Given the description of an element on the screen output the (x, y) to click on. 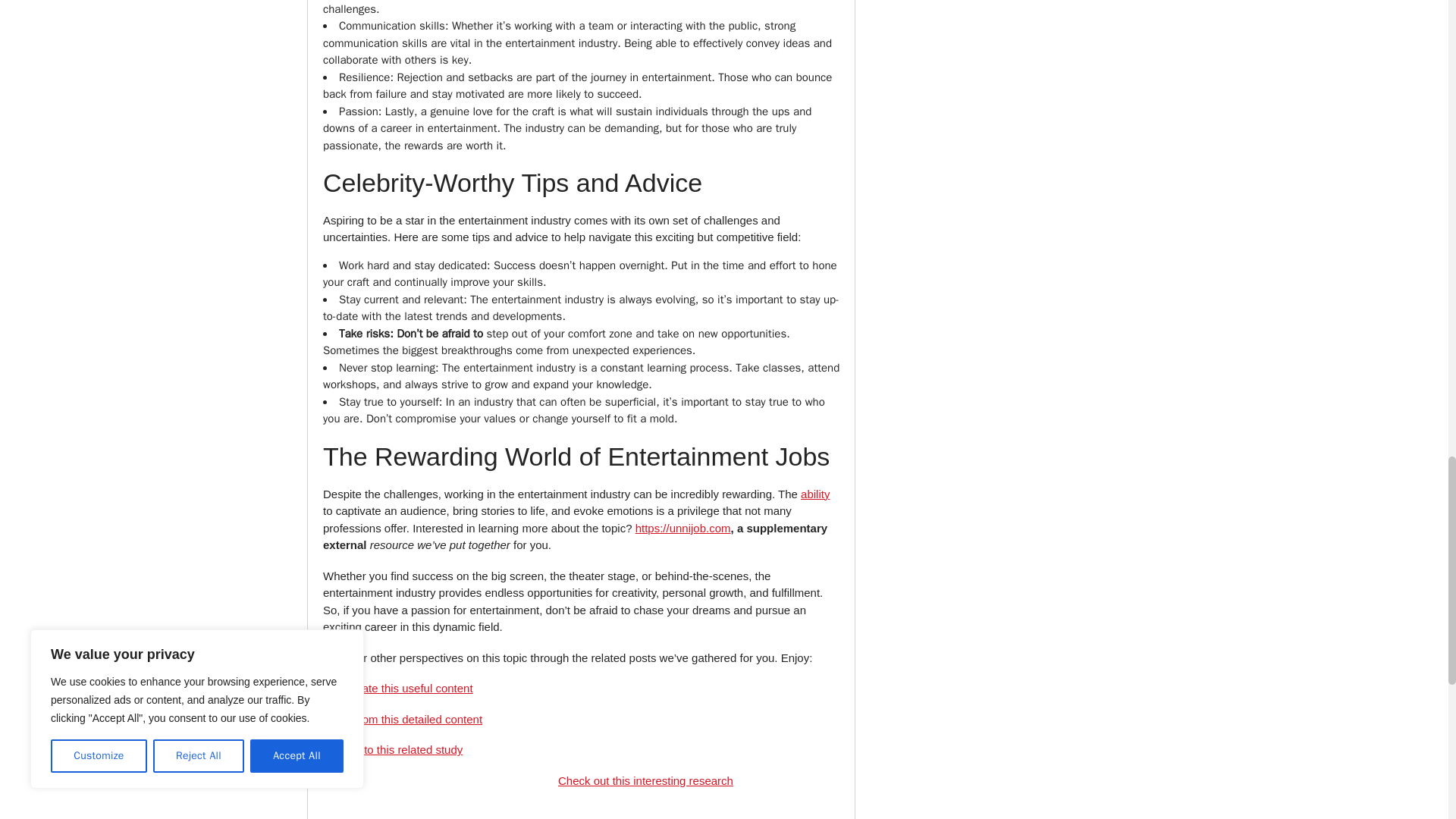
Learn from this detailed content (402, 718)
effectively convey (735, 42)
Investigate this useful content (398, 687)
ability (814, 493)
